Given the description of an element on the screen output the (x, y) to click on. 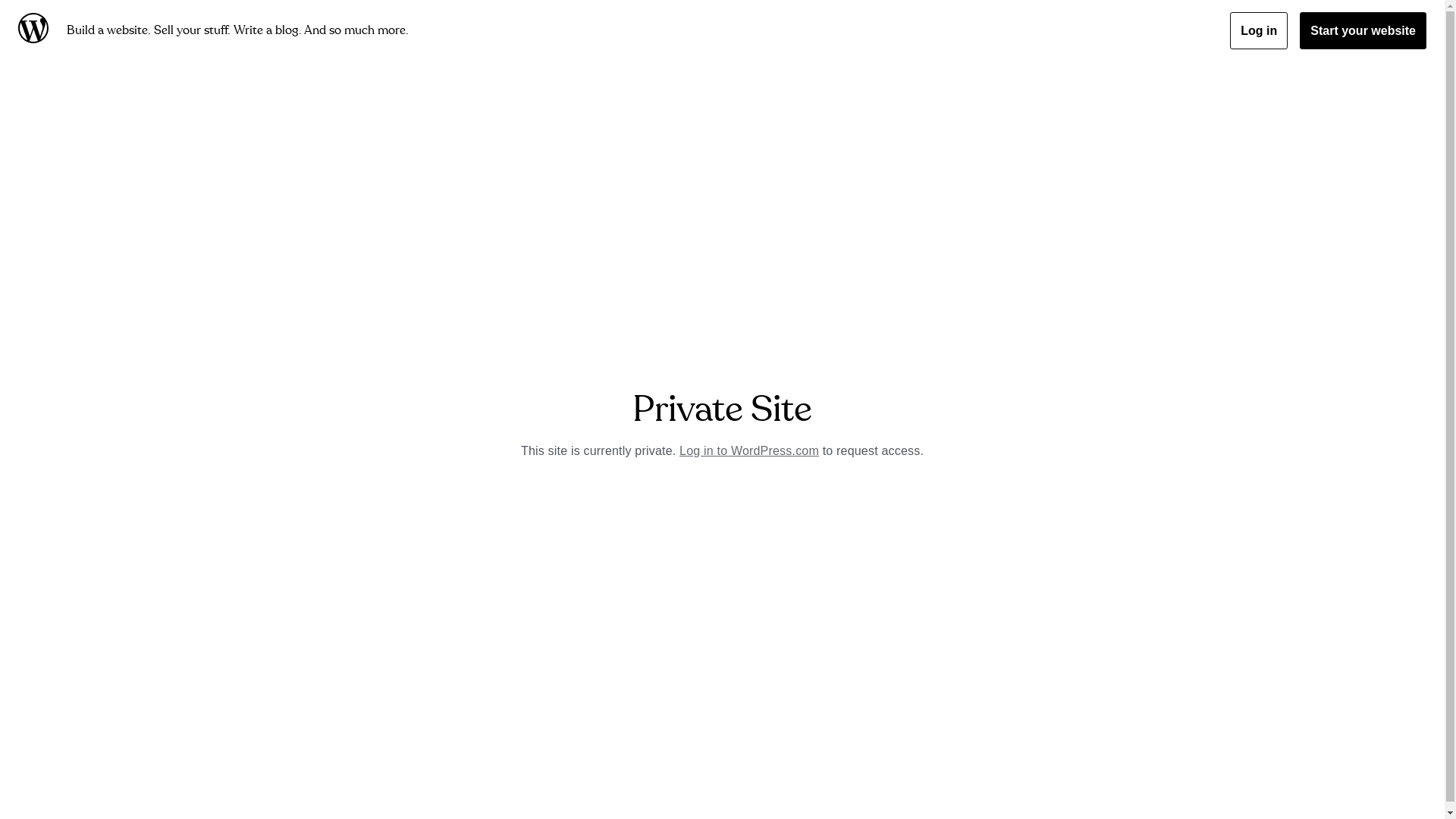
Log in Element type: text (1258, 30)
Start your website Element type: text (1362, 30)
WordPress.com Element type: text (36, 30)
Log in to WordPress.com Element type: text (749, 450)
